Given the description of an element on the screen output the (x, y) to click on. 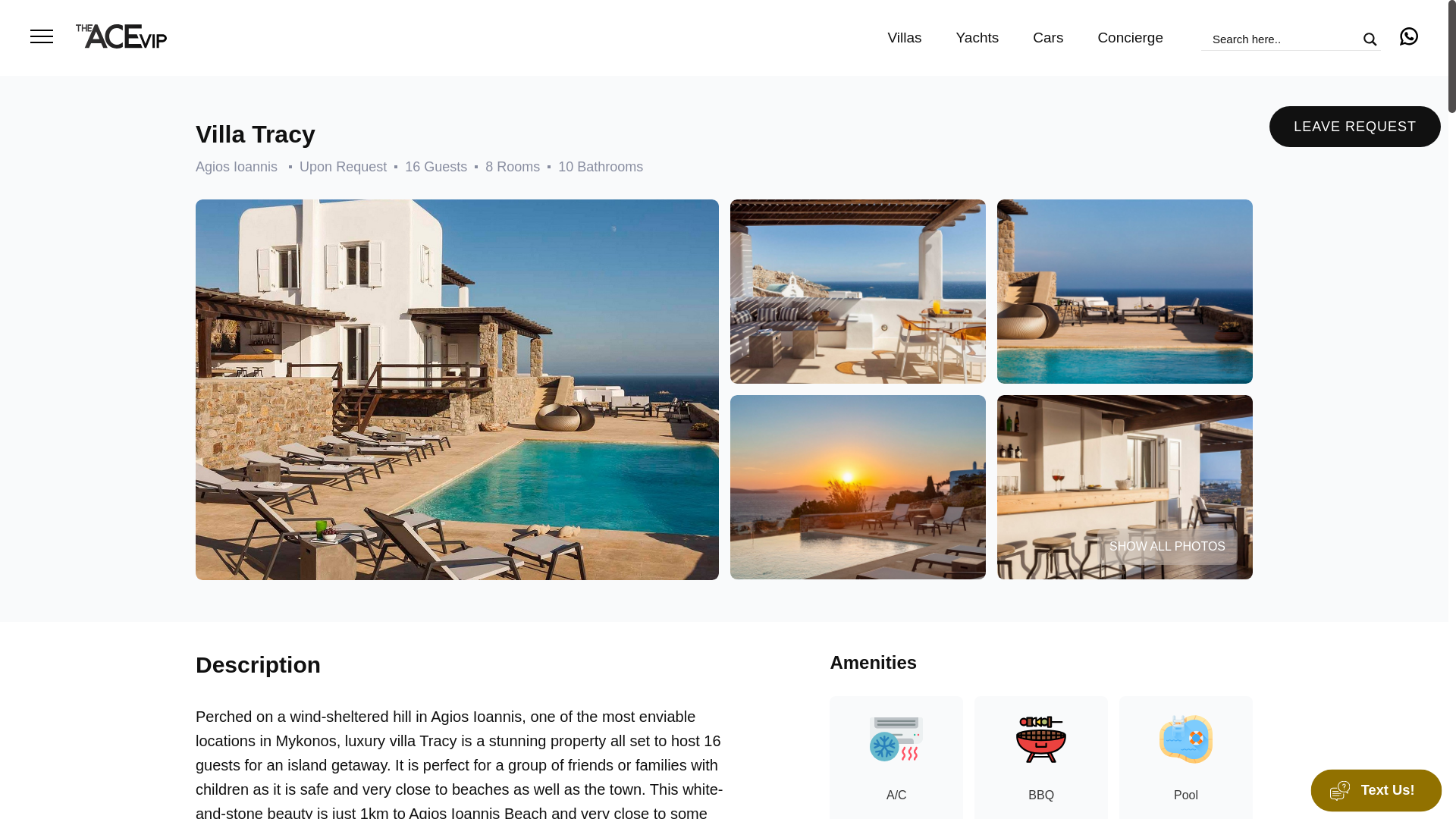
LEAVE REQUEST (1355, 126)
Concierge (1130, 37)
Villas (904, 37)
Yachts (977, 37)
Agios Ioannis (236, 166)
Cars (1047, 37)
